Given the description of an element on the screen output the (x, y) to click on. 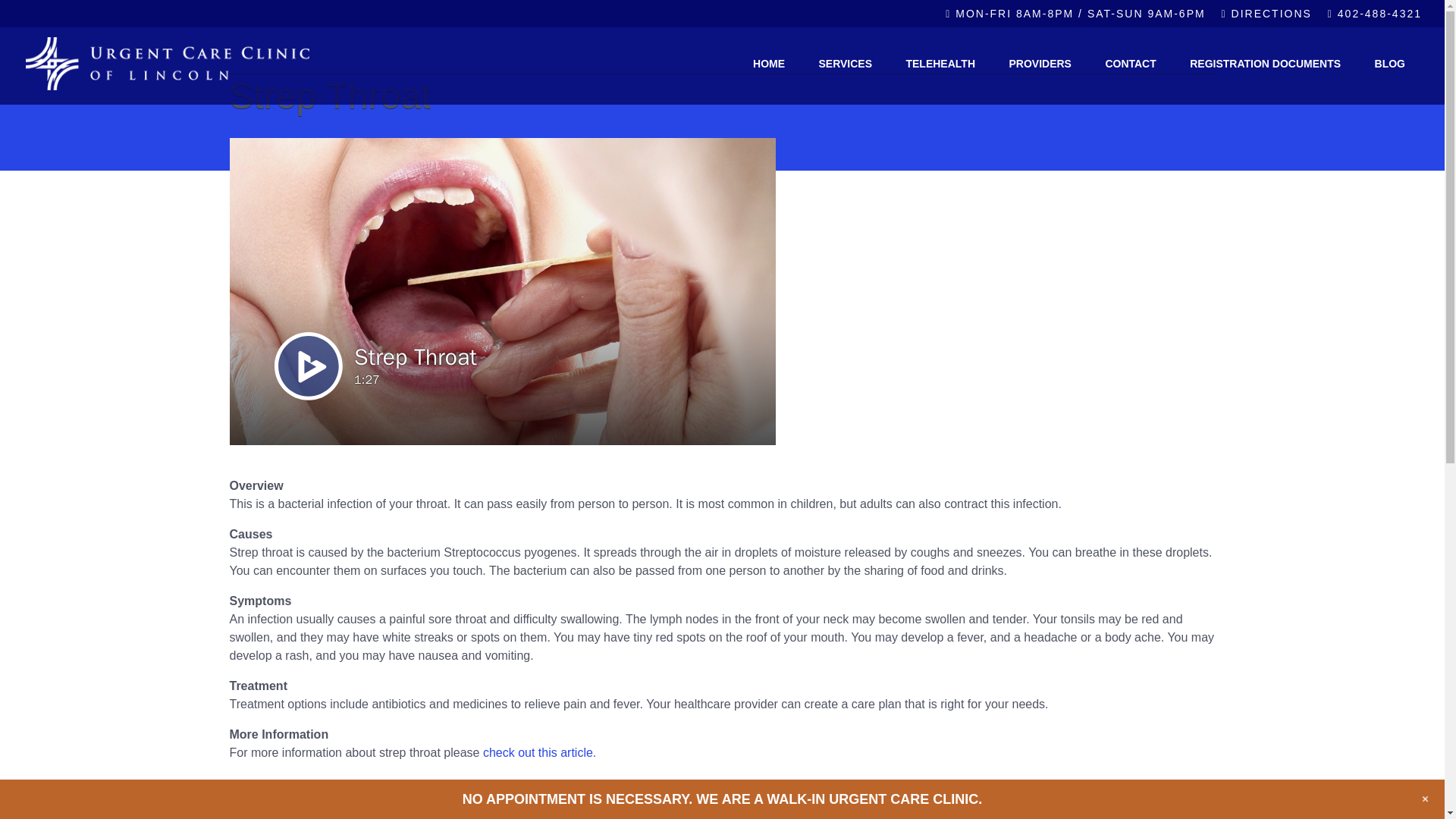
CONTACT (1129, 63)
BLOG (1390, 63)
PROVIDERS (1039, 63)
SERVICES (844, 63)
TELEHEALTH (939, 63)
DIRECTIONS (1266, 17)
REGISTRATION DOCUMENTS (1264, 63)
HOME (768, 63)
check out this article (537, 752)
